Given the description of an element on the screen output the (x, y) to click on. 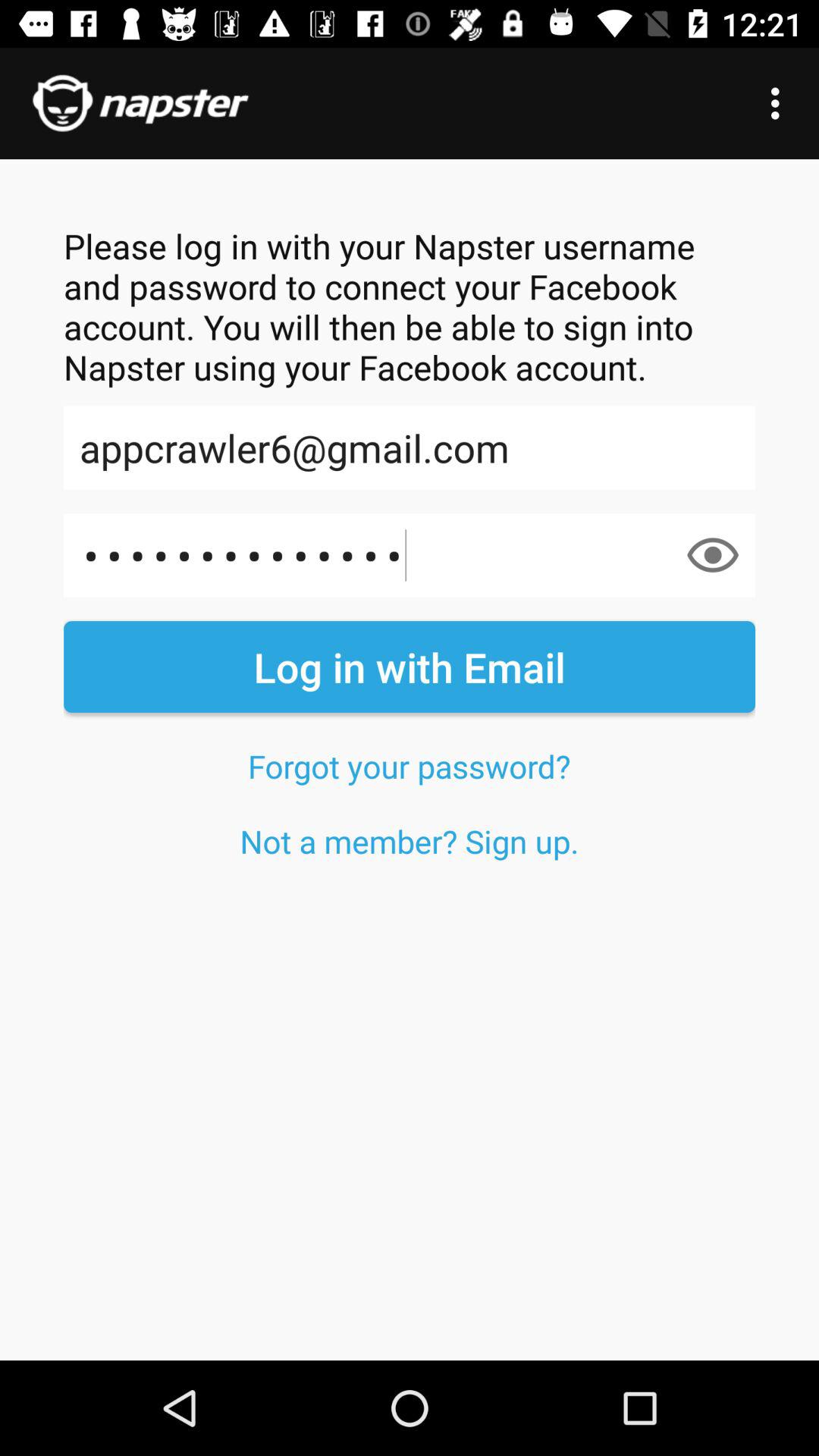
turn off the icon below the appcrawler6@gmail.com item (712, 555)
